Given the description of an element on the screen output the (x, y) to click on. 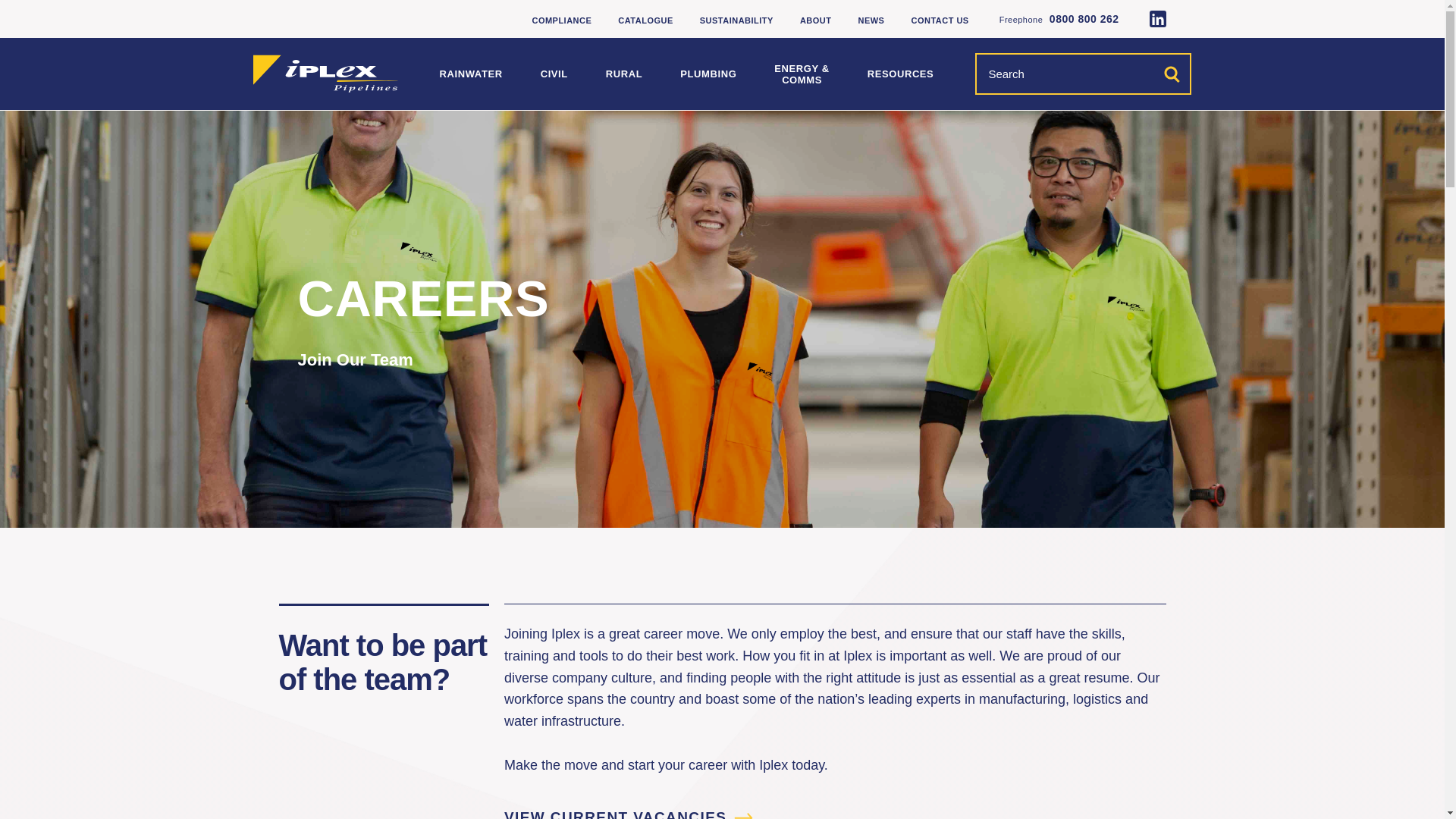
LINKEDIN (1158, 18)
COMPLIANCE (561, 19)
Search (1171, 73)
SUSTAINABILITY (736, 19)
NEWS (870, 19)
Iplex Pipelines (325, 73)
CATALOGUE (644, 19)
RESOURCES (900, 73)
CIVIL (553, 73)
RURAL (623, 73)
PLUMBING (708, 73)
ABOUT (815, 19)
CONTACT US (939, 19)
RAINWATER (470, 73)
